Given the description of an element on the screen output the (x, y) to click on. 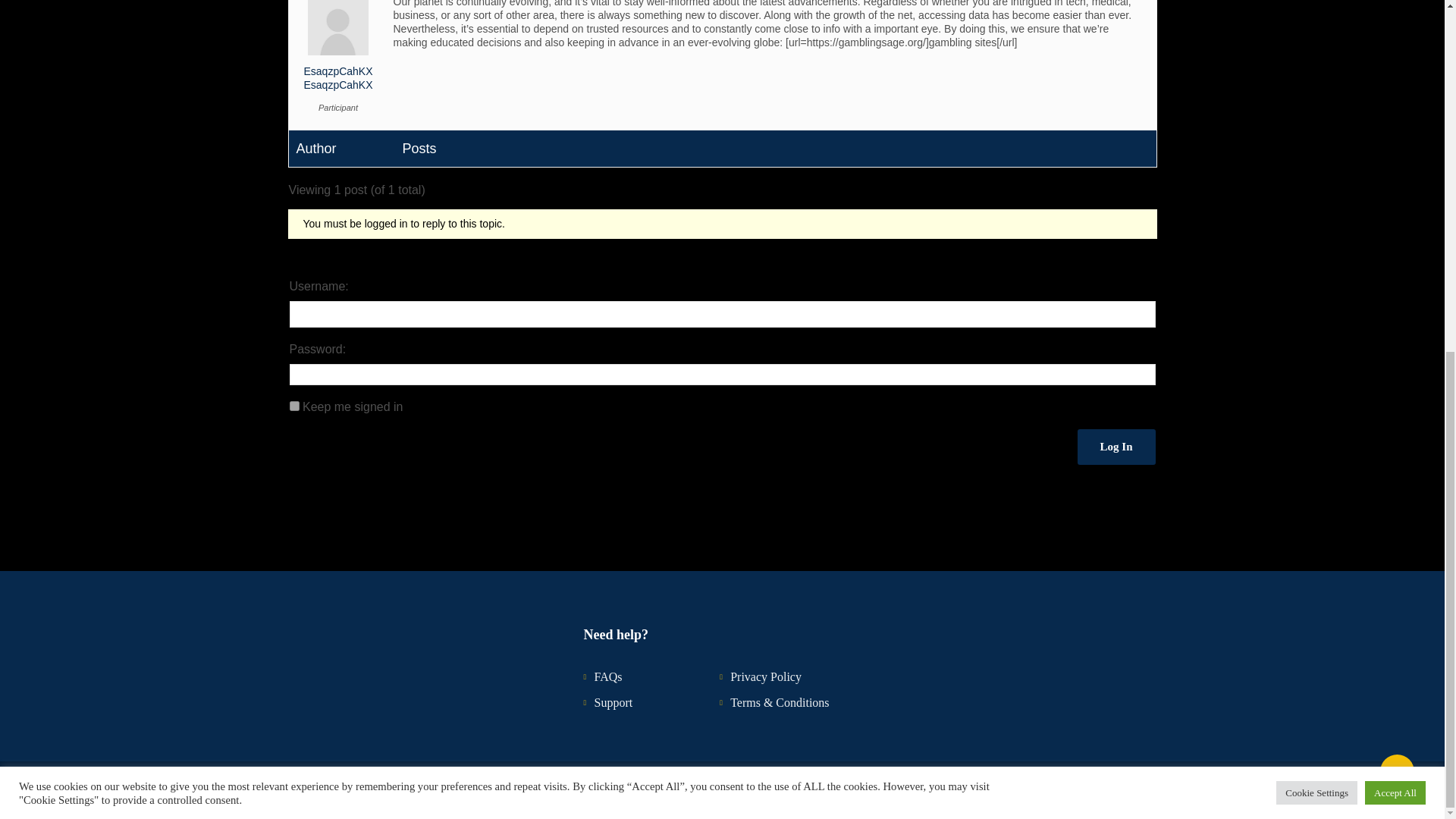
EsaqzpCahKX EsaqzpCahKX (337, 51)
Cookie Settings (1316, 180)
Support (612, 702)
forever (294, 406)
View EsaqzpCahKX EsaqzpCahKX's profile (337, 51)
FAQs (607, 676)
Privacy Policy (766, 676)
Log In (1116, 447)
Accept All (1395, 180)
